Given the description of an element on the screen output the (x, y) to click on. 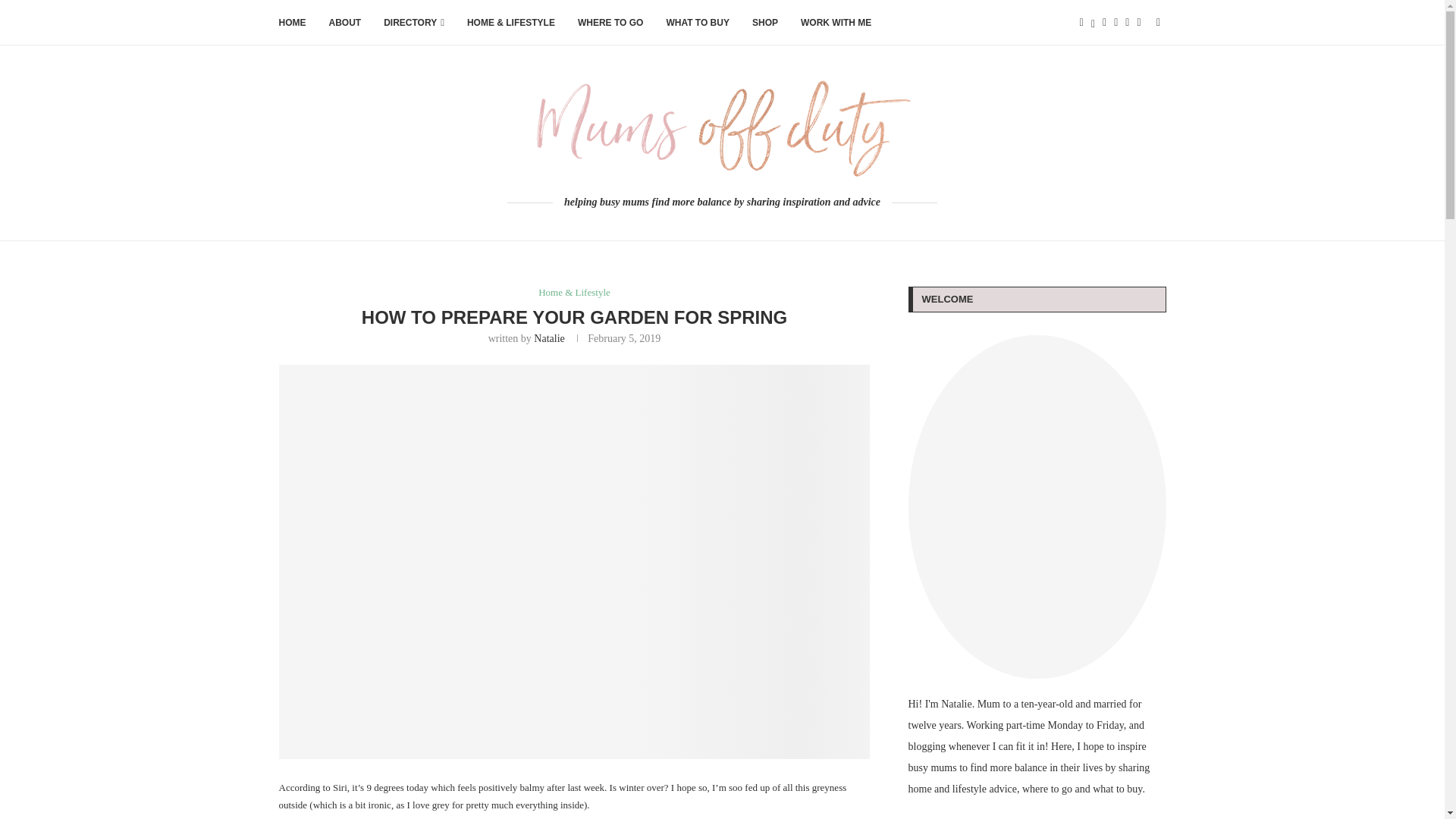
WHAT TO BUY (697, 22)
Natalie (549, 337)
WORK WITH ME (835, 22)
DIRECTORY (414, 22)
WHERE TO GO (610, 22)
